Given the description of an element on the screen output the (x, y) to click on. 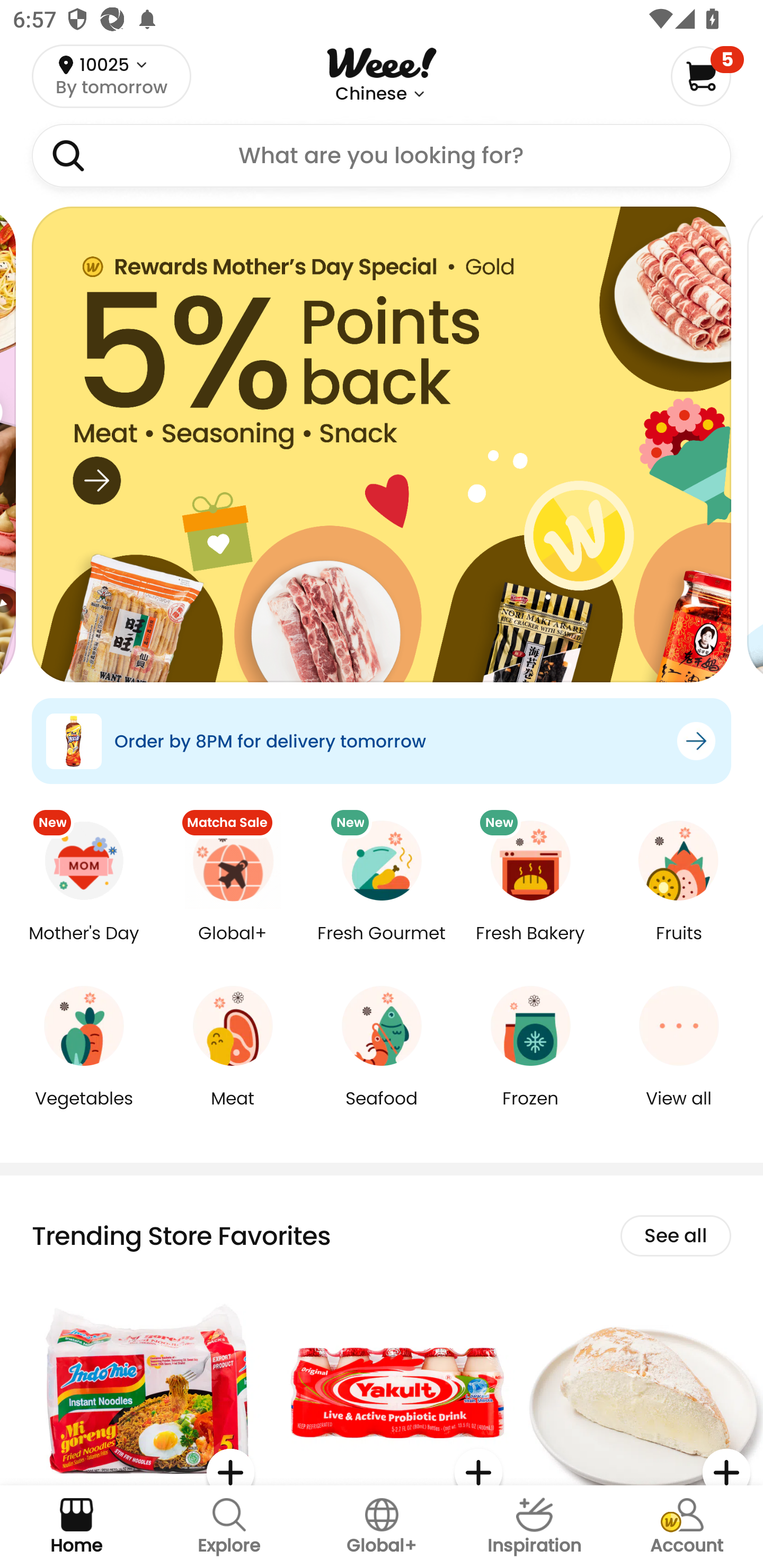
10025 By tomorrow (111, 75)
5 (706, 75)
Chinese (370, 93)
What are you looking for? (381, 155)
Order by 8PM for delivery tomorrow (381, 740)
Mother's Day (83, 946)
Global+ (232, 946)
Fresh Gourmet (381, 946)
Fresh Bakery (530, 946)
Fruits (678, 946)
Vegetables (83, 1111)
Meat (232, 1111)
Seafood (381, 1111)
Frozen (530, 1111)
View all (678, 1111)
Home (76, 1526)
Explore (228, 1526)
Global+ (381, 1526)
Inspiration (533, 1526)
Account (686, 1526)
